Given the description of an element on the screen output the (x, y) to click on. 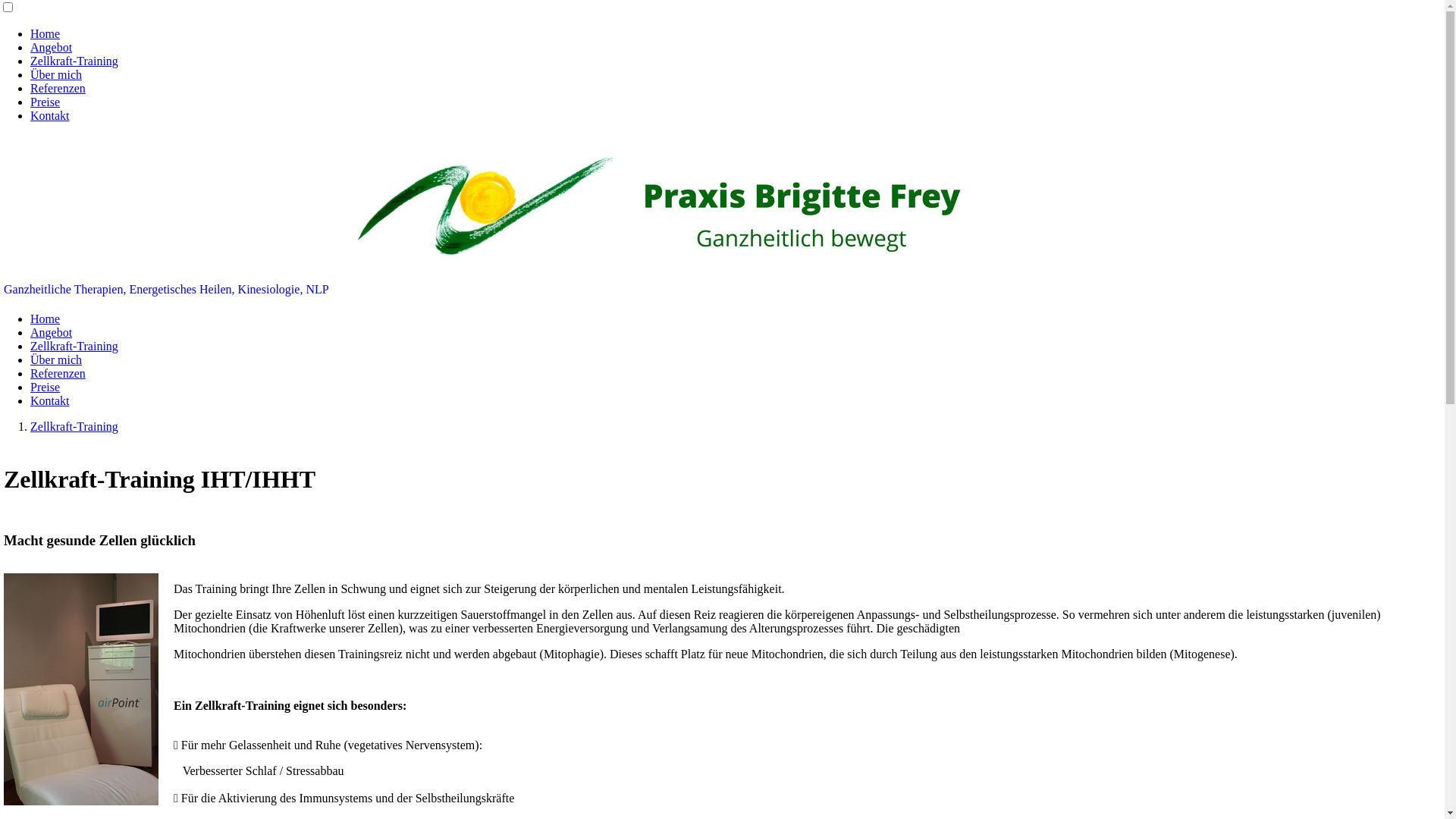
Kontakt Element type: text (49, 400)
Angebot Element type: text (51, 332)
Referenzen Element type: text (57, 87)
Preise Element type: text (44, 101)
Zellkraft-Training Element type: text (74, 345)
Zellkraft-Training Element type: text (74, 60)
Angebot Element type: text (51, 46)
Home Element type: text (44, 33)
Home Element type: text (44, 318)
Referenzen Element type: text (57, 373)
Zellkraft-Training Element type: text (74, 426)
Preise Element type: text (44, 386)
Kontakt Element type: text (49, 115)
